Given the description of an element on the screen output the (x, y) to click on. 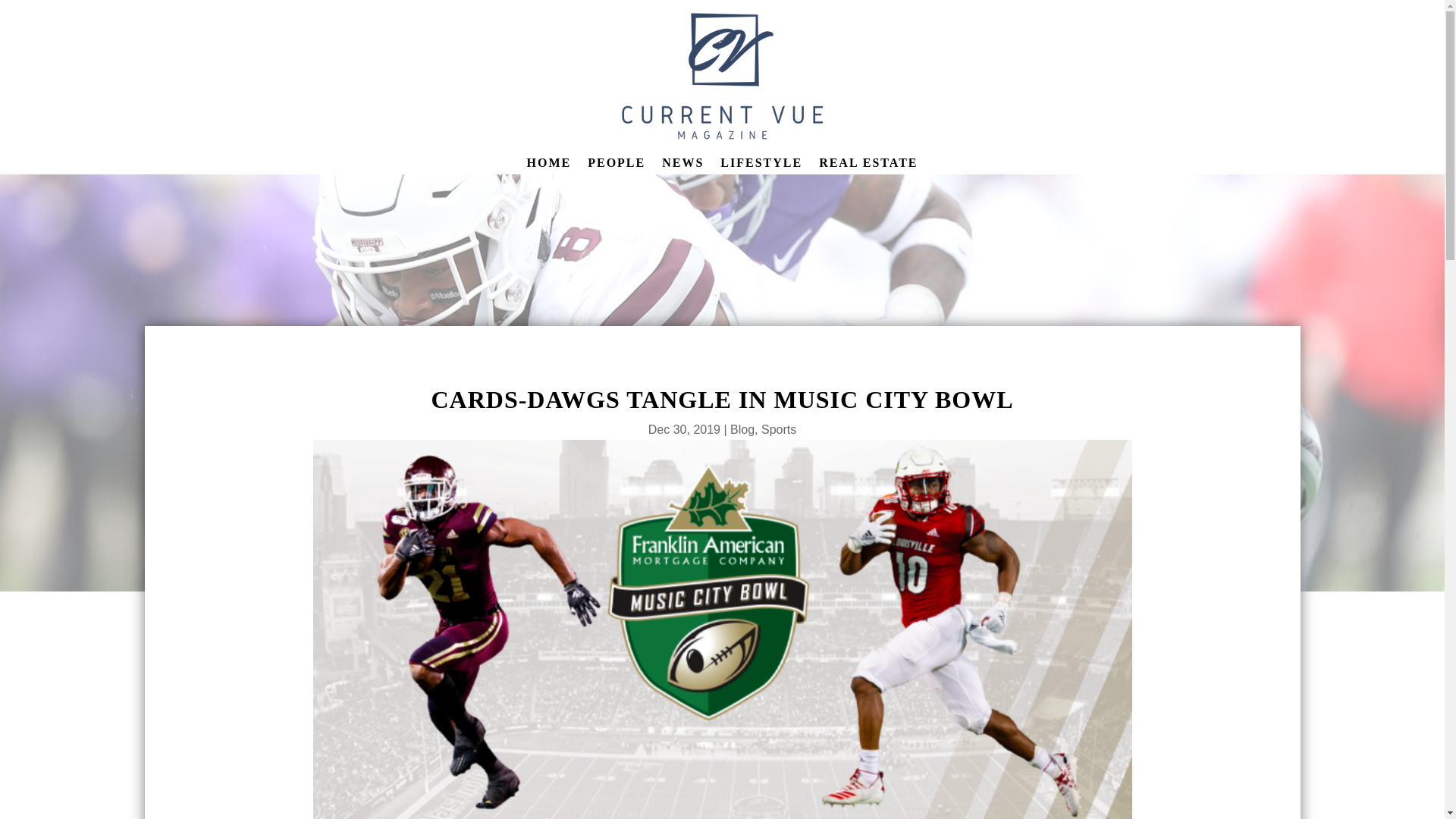
HOME (549, 166)
REAL ESTATE (867, 166)
Sports (778, 429)
NEWS (682, 166)
CVlogoBlueLetters (722, 75)
Blog (742, 429)
PEOPLE (616, 166)
LIFESTYLE (761, 166)
